Given the description of an element on the screen output the (x, y) to click on. 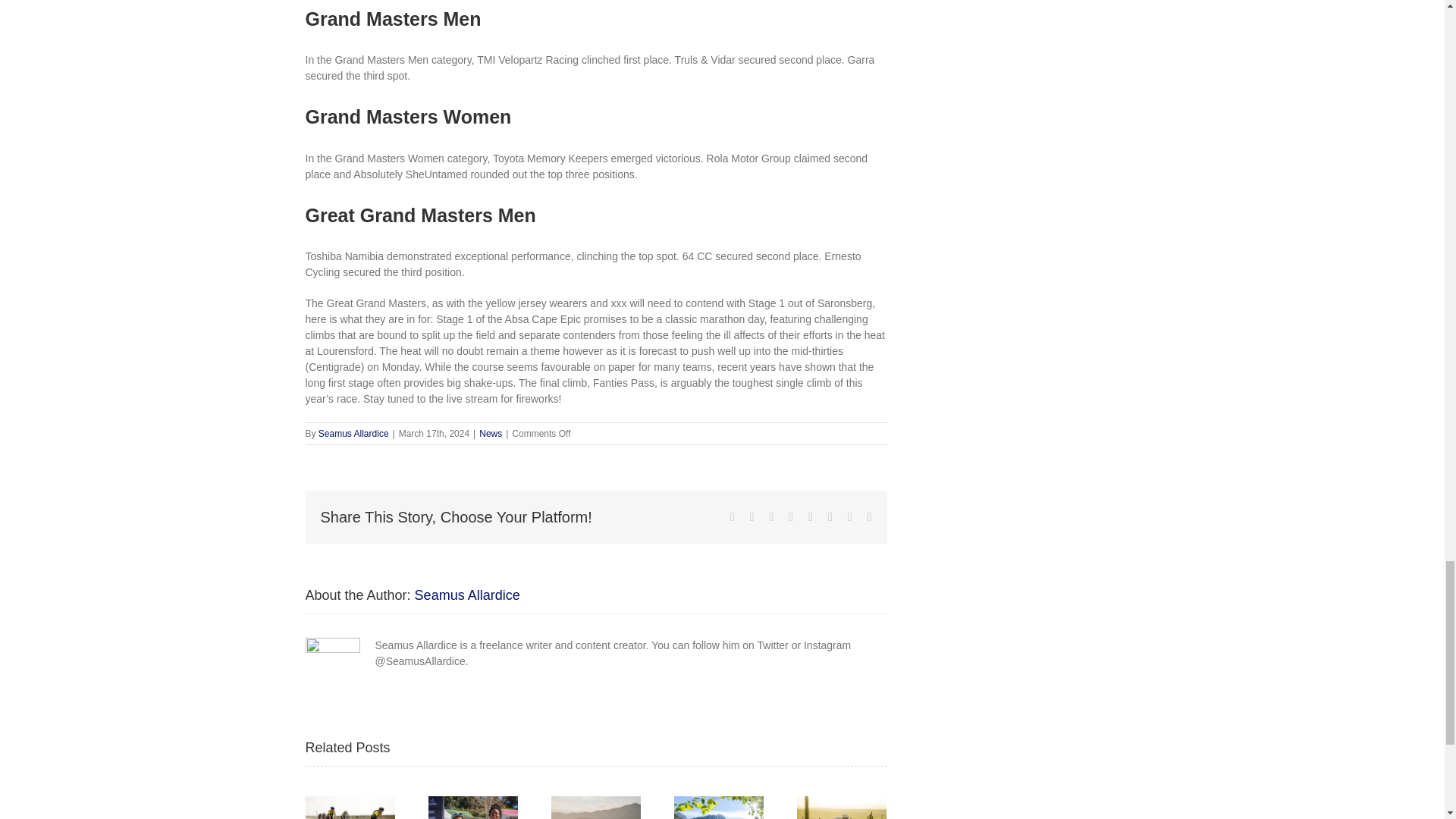
Seamus Allardice (466, 595)
Seamus Allardice (353, 433)
News (490, 433)
Posts by Seamus Allardice (466, 595)
Posts by Seamus Allardice (353, 433)
